Given the description of an element on the screen output the (x, y) to click on. 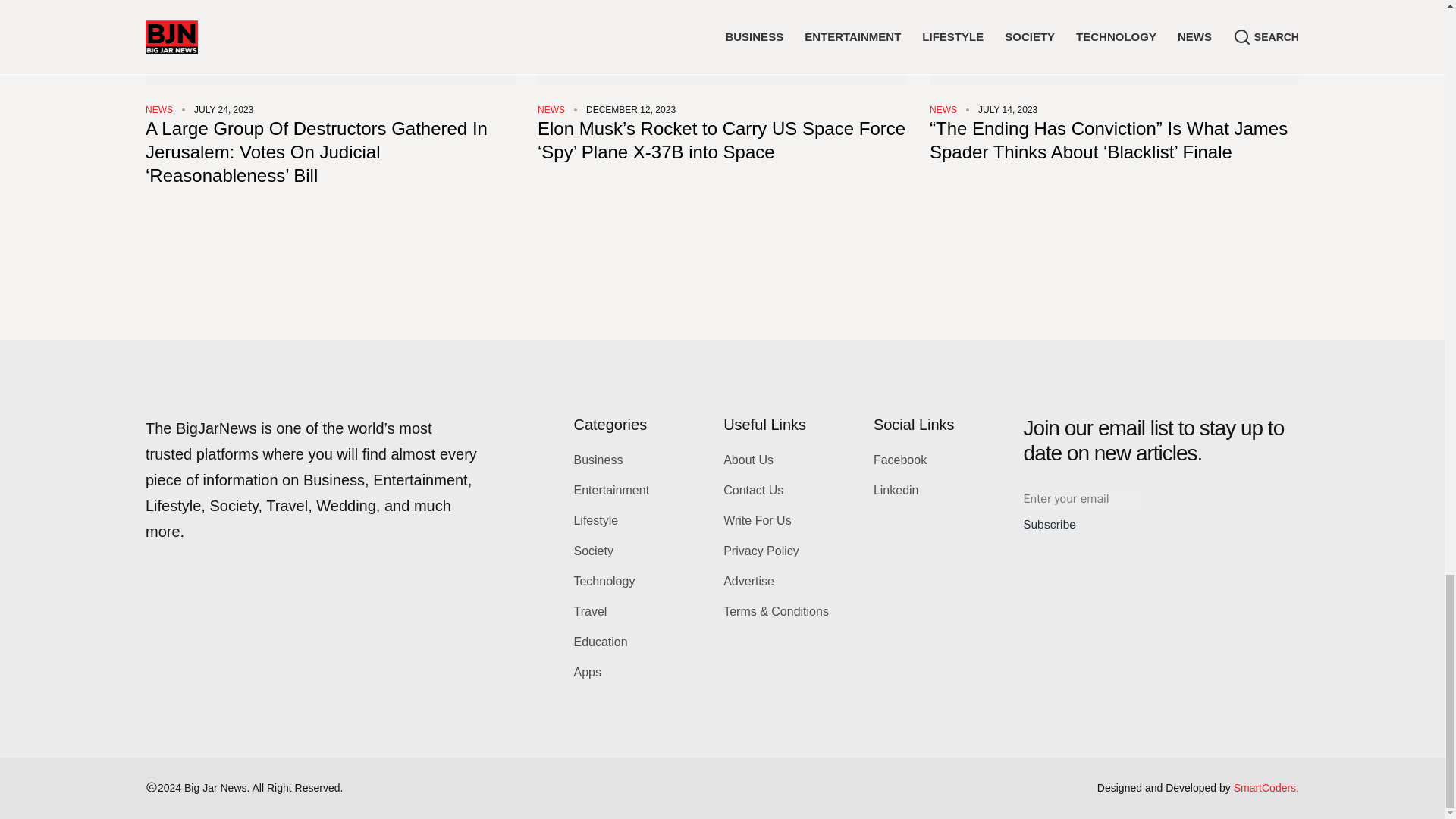
Subscribe (1049, 524)
News (159, 109)
News (550, 109)
News (943, 109)
